Given the description of an element on the screen output the (x, y) to click on. 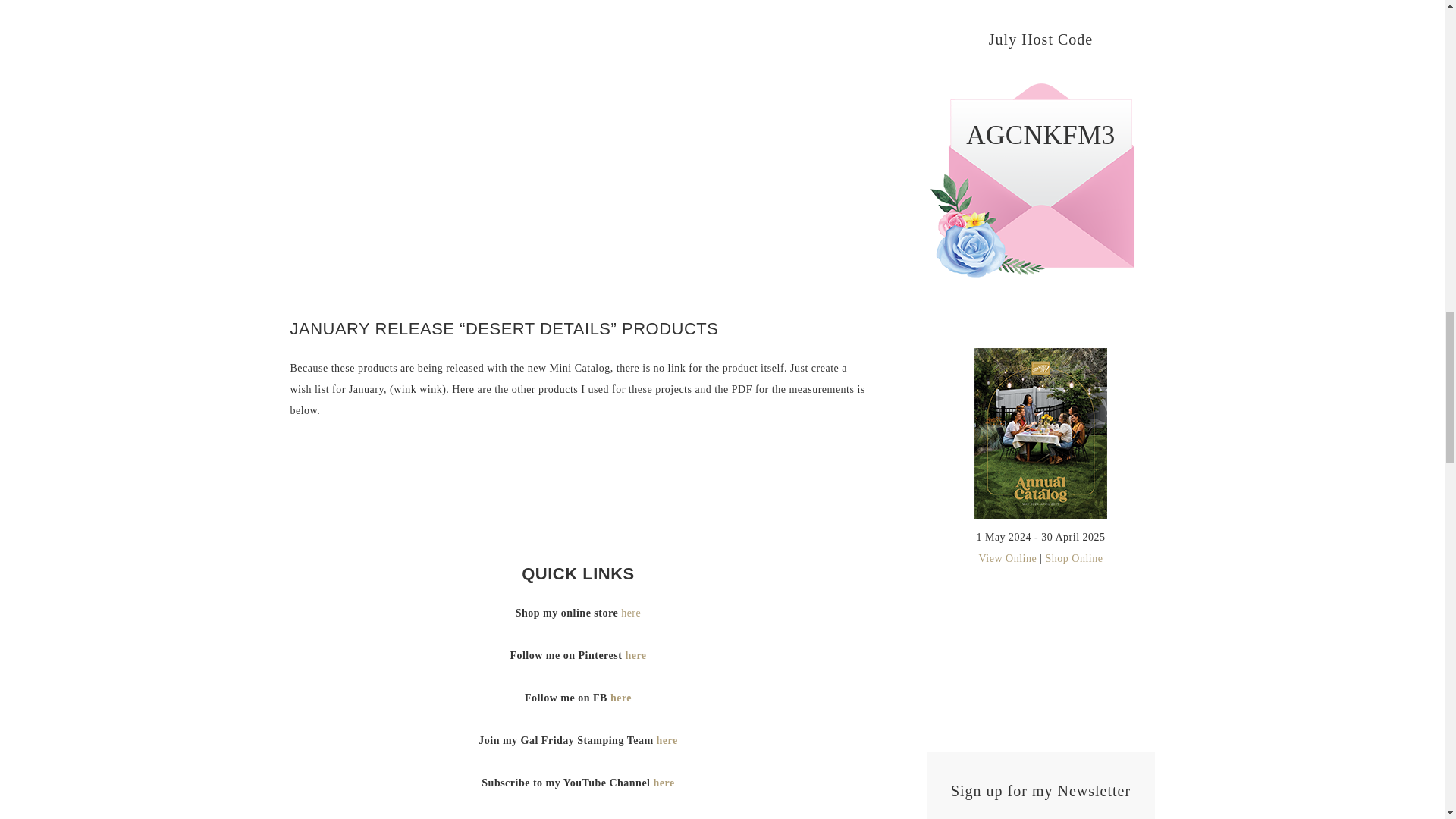
here (630, 613)
here (667, 740)
here (620, 697)
here (635, 655)
here (664, 782)
